Given the description of an element on the screen output the (x, y) to click on. 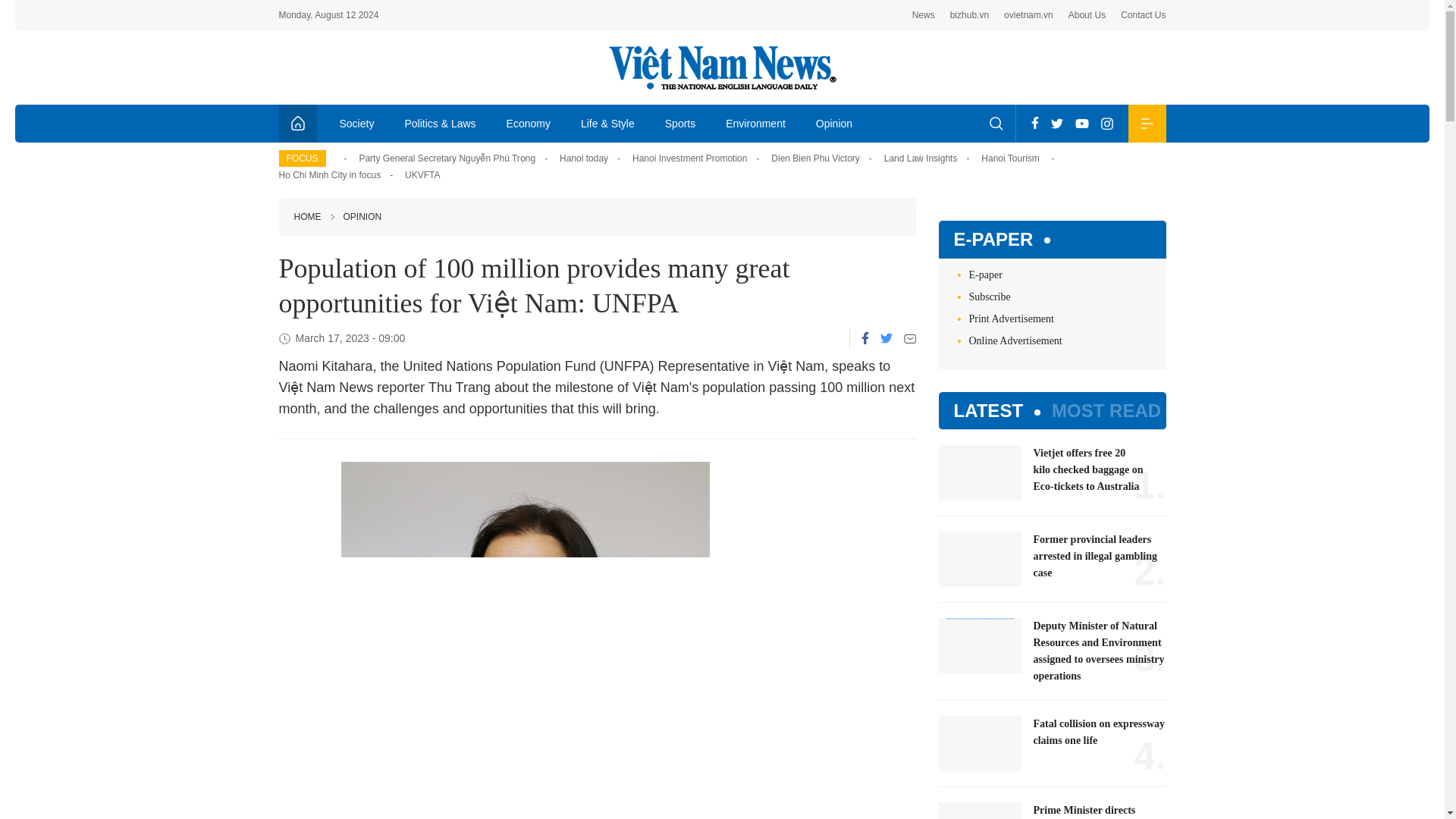
Contact Us (1143, 15)
Facebook (1035, 123)
About Us (1086, 15)
Opinion (833, 123)
Environment (755, 123)
Youtube (1081, 122)
bizhub.vn (969, 15)
Email (909, 338)
Twitter (885, 337)
Twitter (1056, 122)
